Given the description of an element on the screen output the (x, y) to click on. 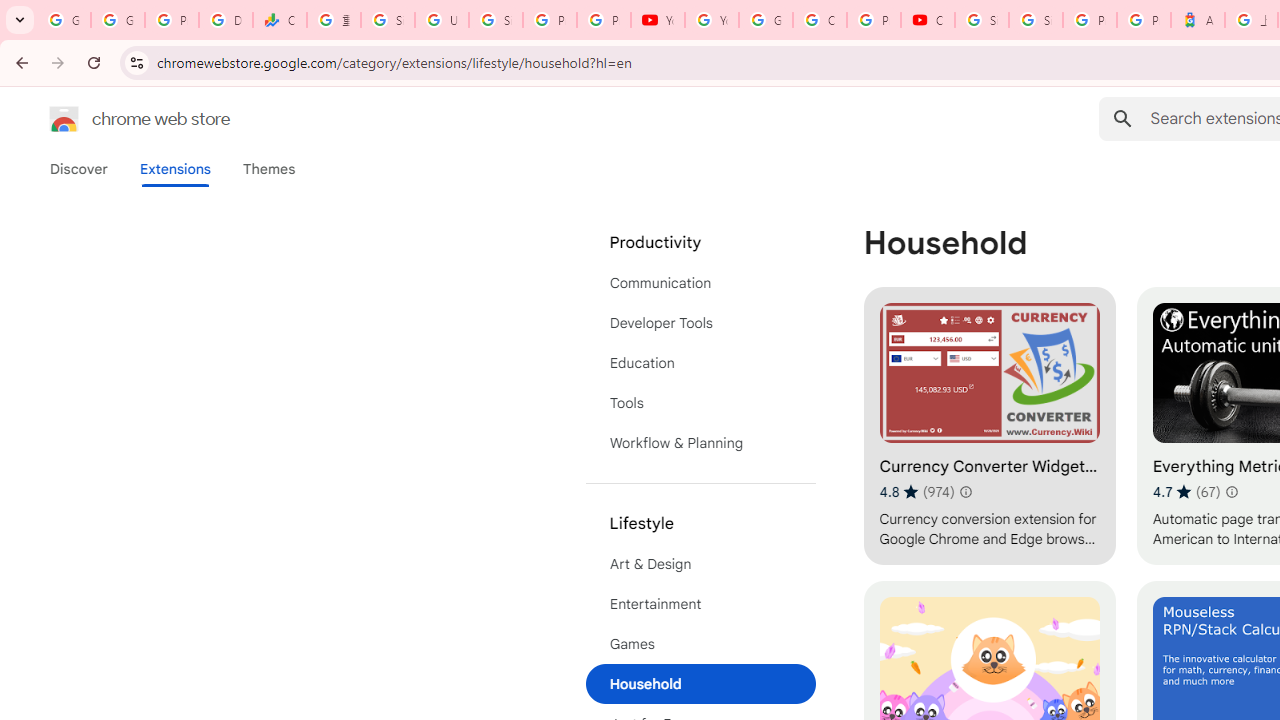
Games (700, 643)
Currency Converter Widget - Exchange Rates (989, 426)
